Given the description of an element on the screen output the (x, y) to click on. 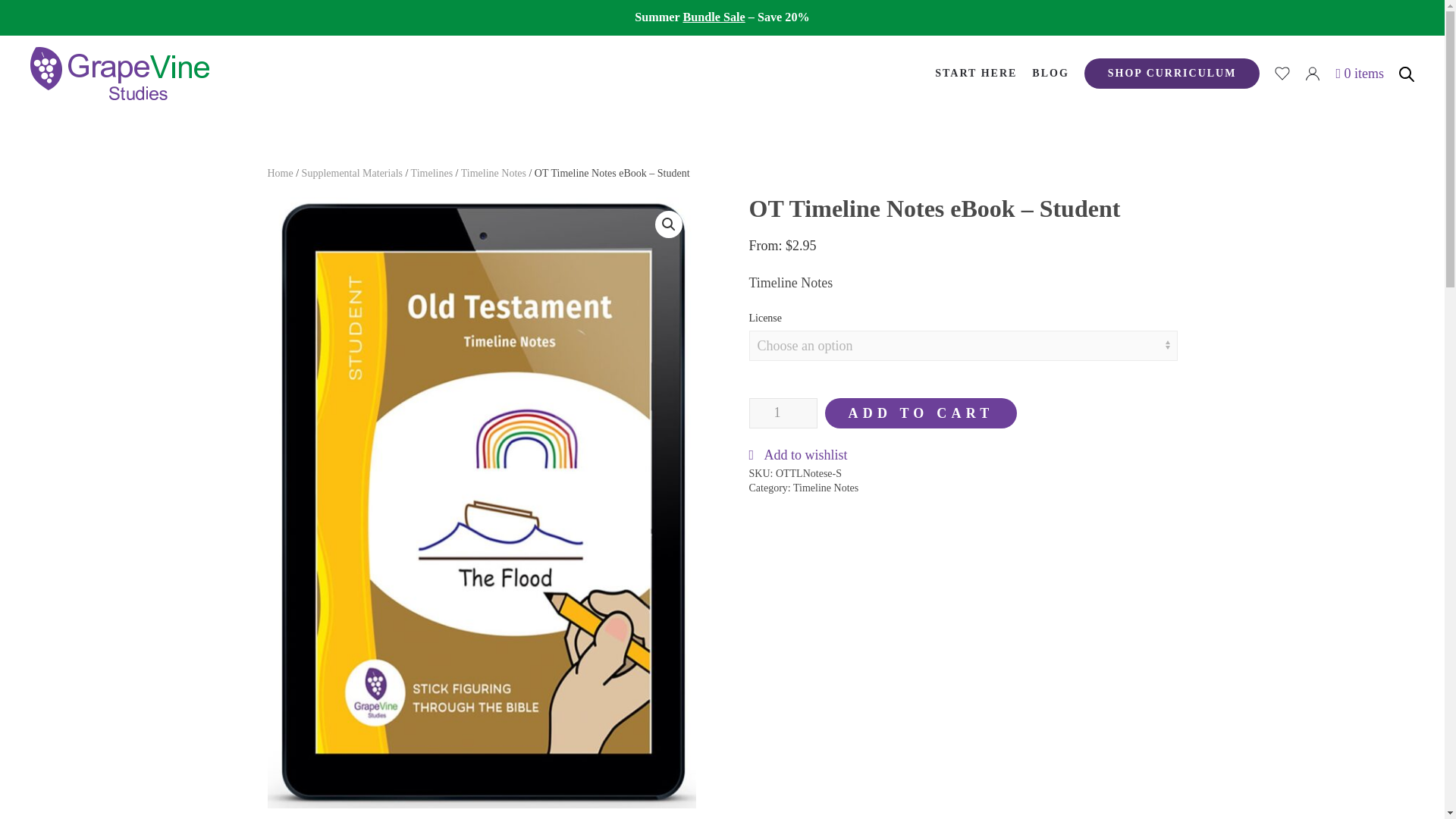
Timelines (431, 173)
Timeline Notes (493, 173)
Start shopping (1359, 73)
Supplemental Materials (352, 173)
Bundle Sale (713, 17)
ADD TO CART (921, 413)
0 items (1359, 73)
SHOP CURRICULUM (1172, 72)
1 (782, 413)
START HERE (975, 72)
BLOG (1050, 72)
Home (279, 173)
